Given the description of an element on the screen output the (x, y) to click on. 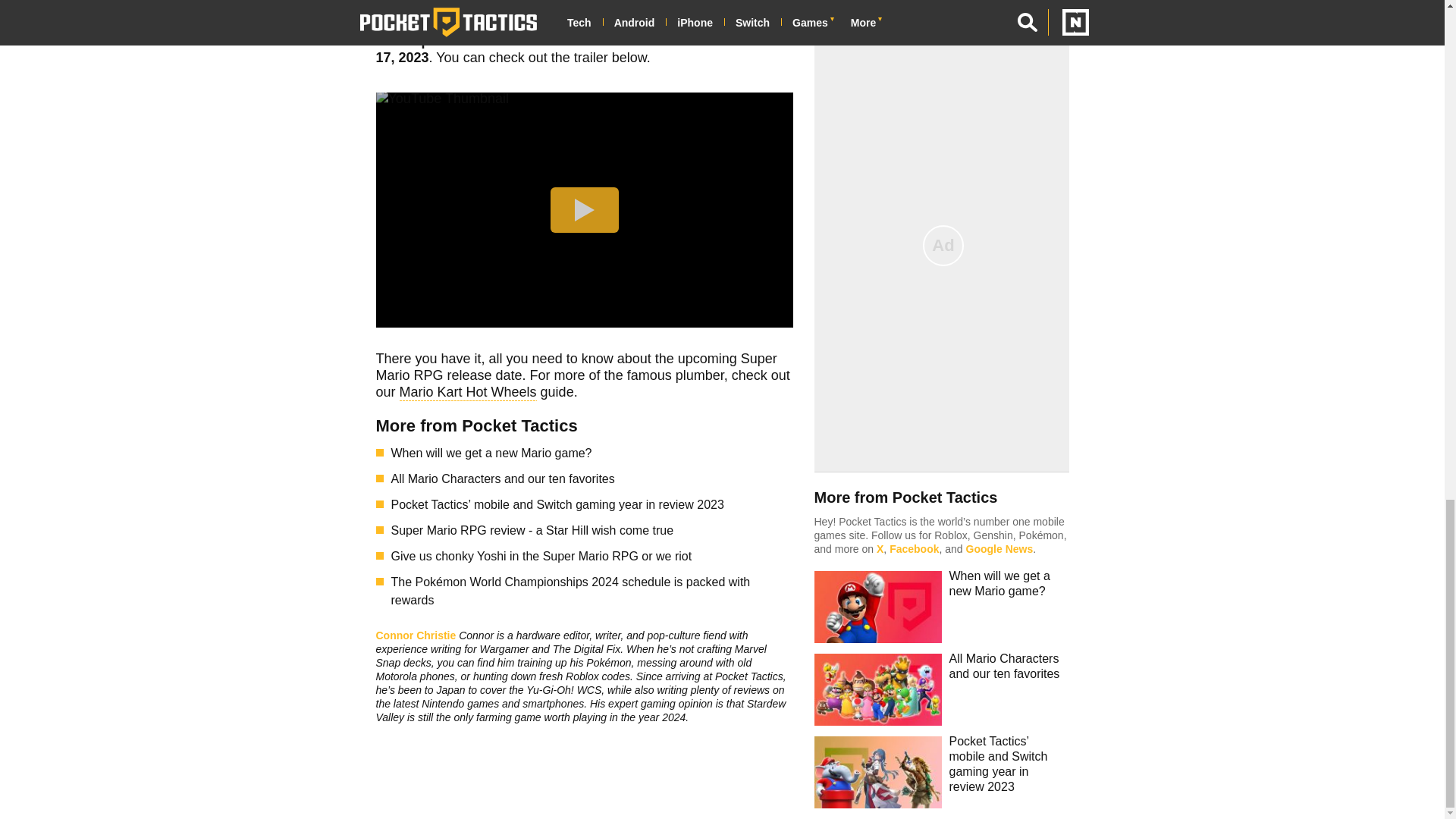
Give us chonky Yoshi in the Super Mario RPG or we riot (592, 556)
Mario Kart Hot Wheels (467, 393)
Super Mario RPG review - a Star Hill wish come true (592, 530)
All Mario Characters and our ten favorites (592, 479)
Give us chonky Yoshi in the Super Mario RPG or we riot (592, 556)
When will we get a new Mario game? (592, 453)
When will we get a new Mario game? (592, 453)
All Mario Characters and our ten favorites (592, 479)
Super Mario RPG review - a Star Hill wish come true (592, 530)
